Given the description of an element on the screen output the (x, y) to click on. 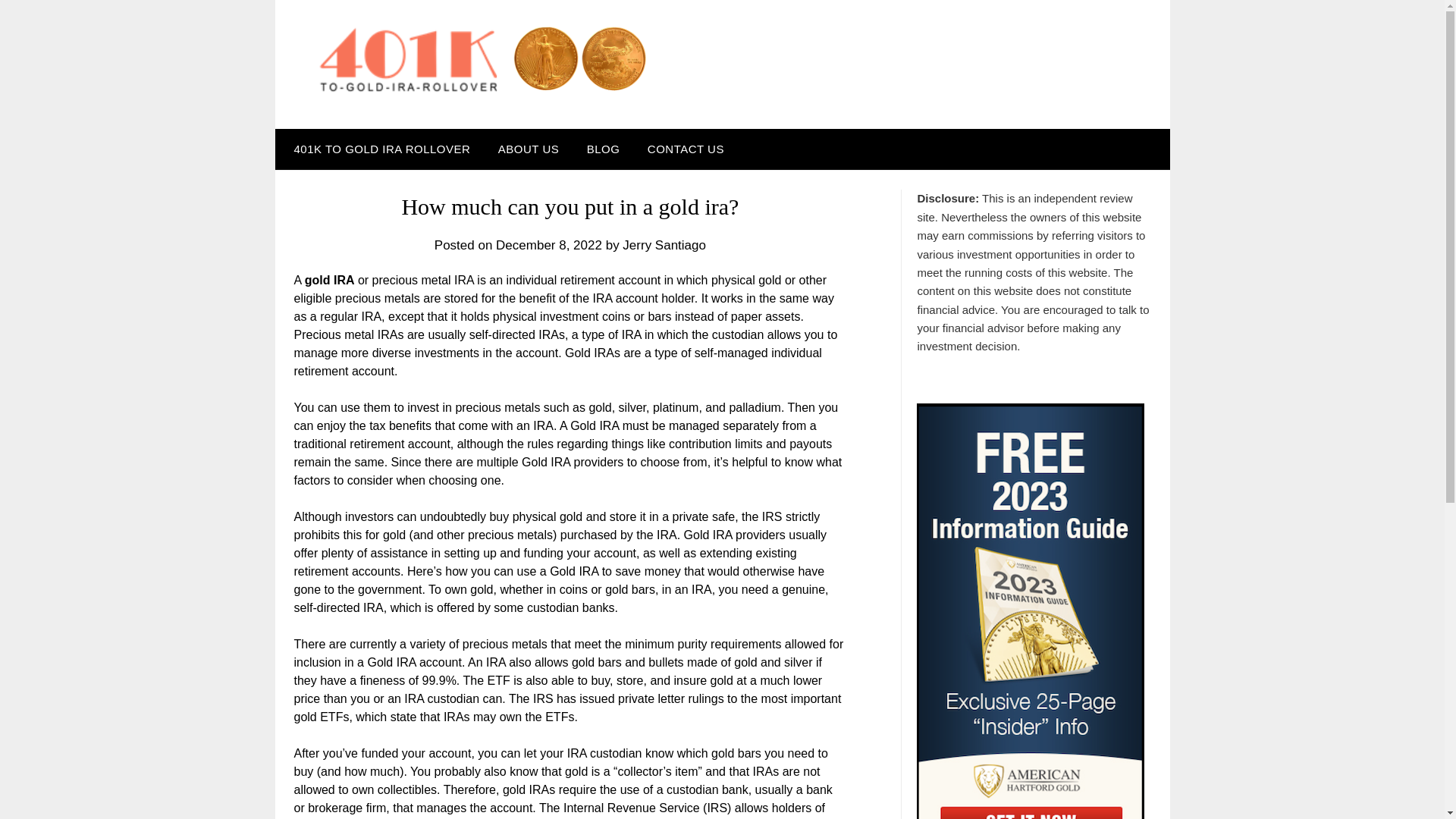
Jerry Santiago (664, 245)
ABOUT US (528, 148)
BLOG (603, 148)
CONTACT US (685, 148)
December 8, 2022 (549, 245)
401K TO GOLD IRA ROLLOVER (378, 148)
